Given the description of an element on the screen output the (x, y) to click on. 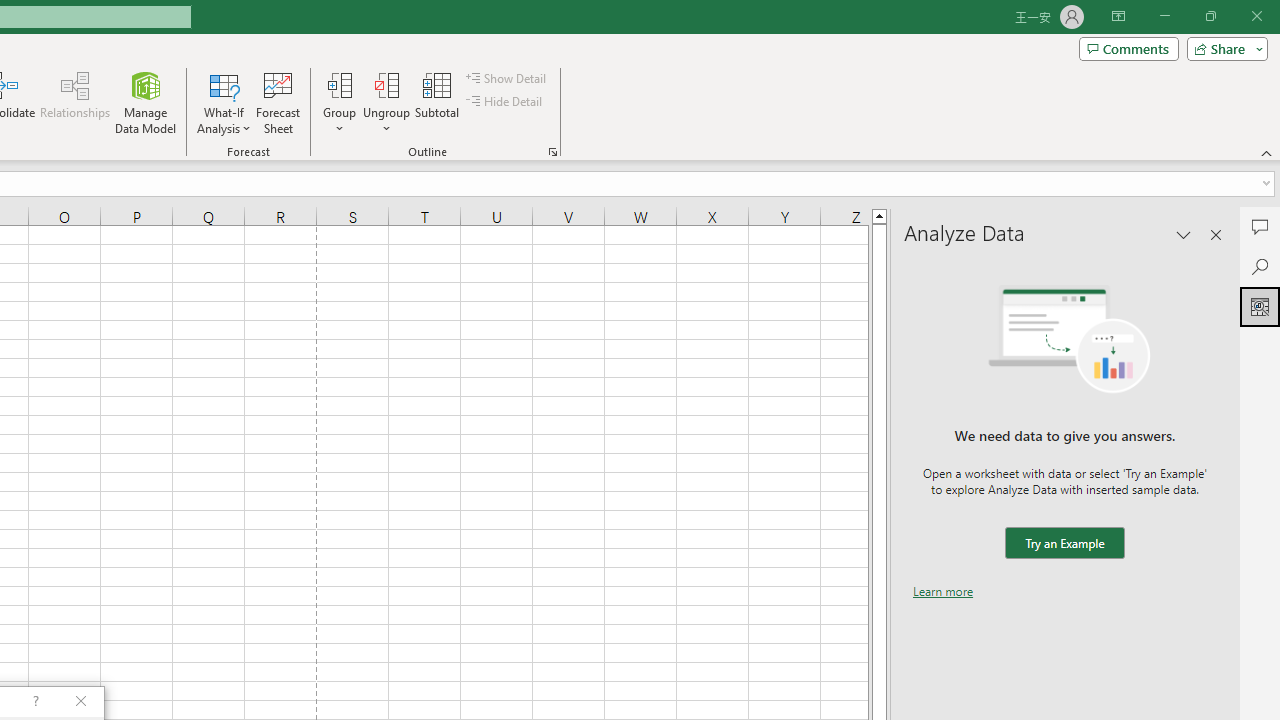
What-If Analysis (223, 102)
Subtotal (437, 102)
Group and Outline Settings (552, 151)
Analyze Data (1260, 306)
We need data to give you answers. Try an Example (1064, 543)
Forecast Sheet (278, 102)
Manage Data Model (145, 102)
Relationships (75, 102)
